Given the description of an element on the screen output the (x, y) to click on. 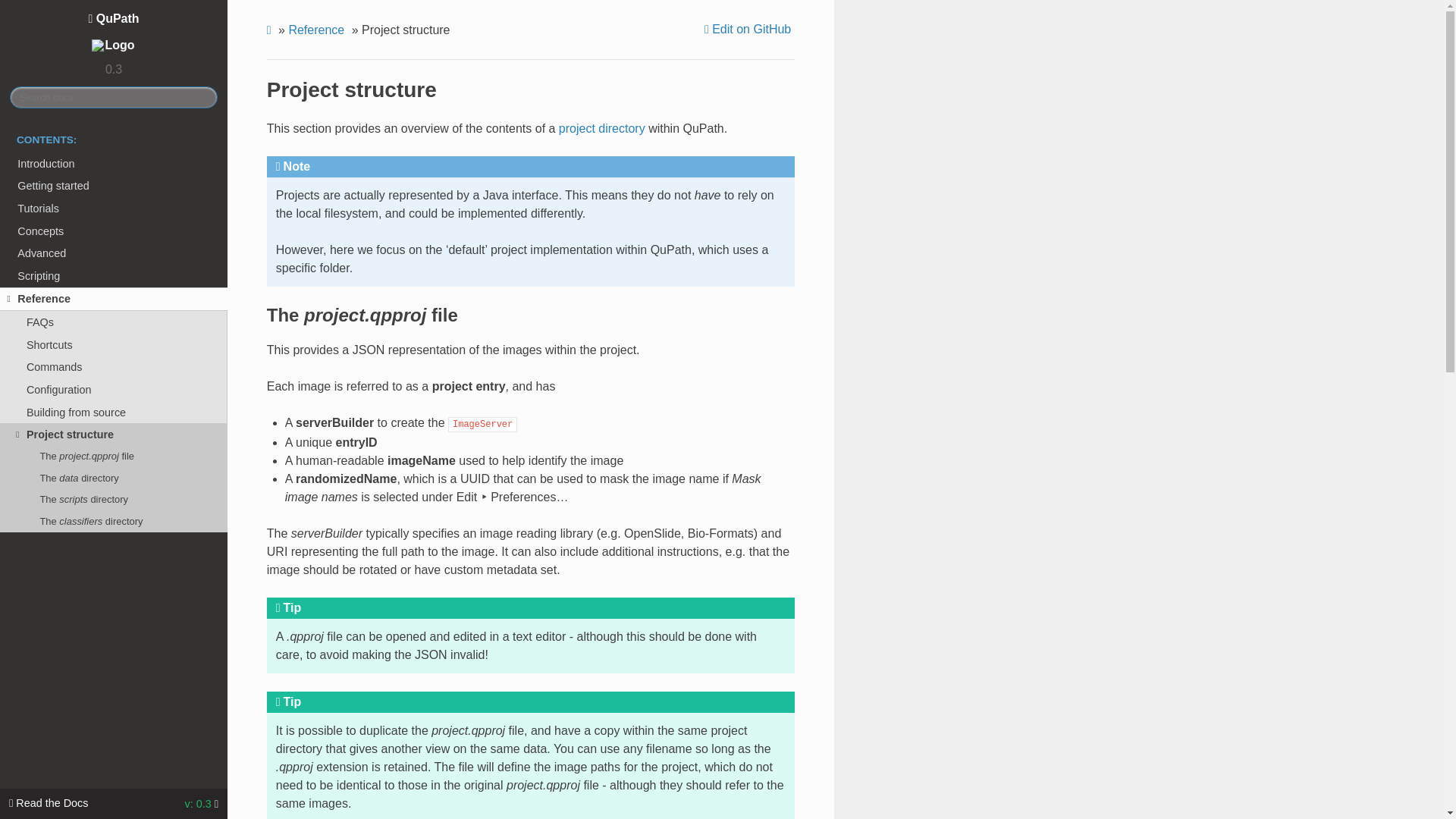
Advanced (113, 252)
Configuration (113, 389)
Scripting (113, 275)
The data directory (113, 477)
Concepts (113, 231)
Tutorials (113, 208)
project directory (602, 128)
Reference (317, 29)
The classifiers directory (113, 520)
Reference (113, 299)
Building from source (113, 412)
Shortcuts (113, 344)
The project.qpproj file (113, 455)
FAQs (113, 322)
Edit on GitHub (749, 29)
